Given the description of an element on the screen output the (x, y) to click on. 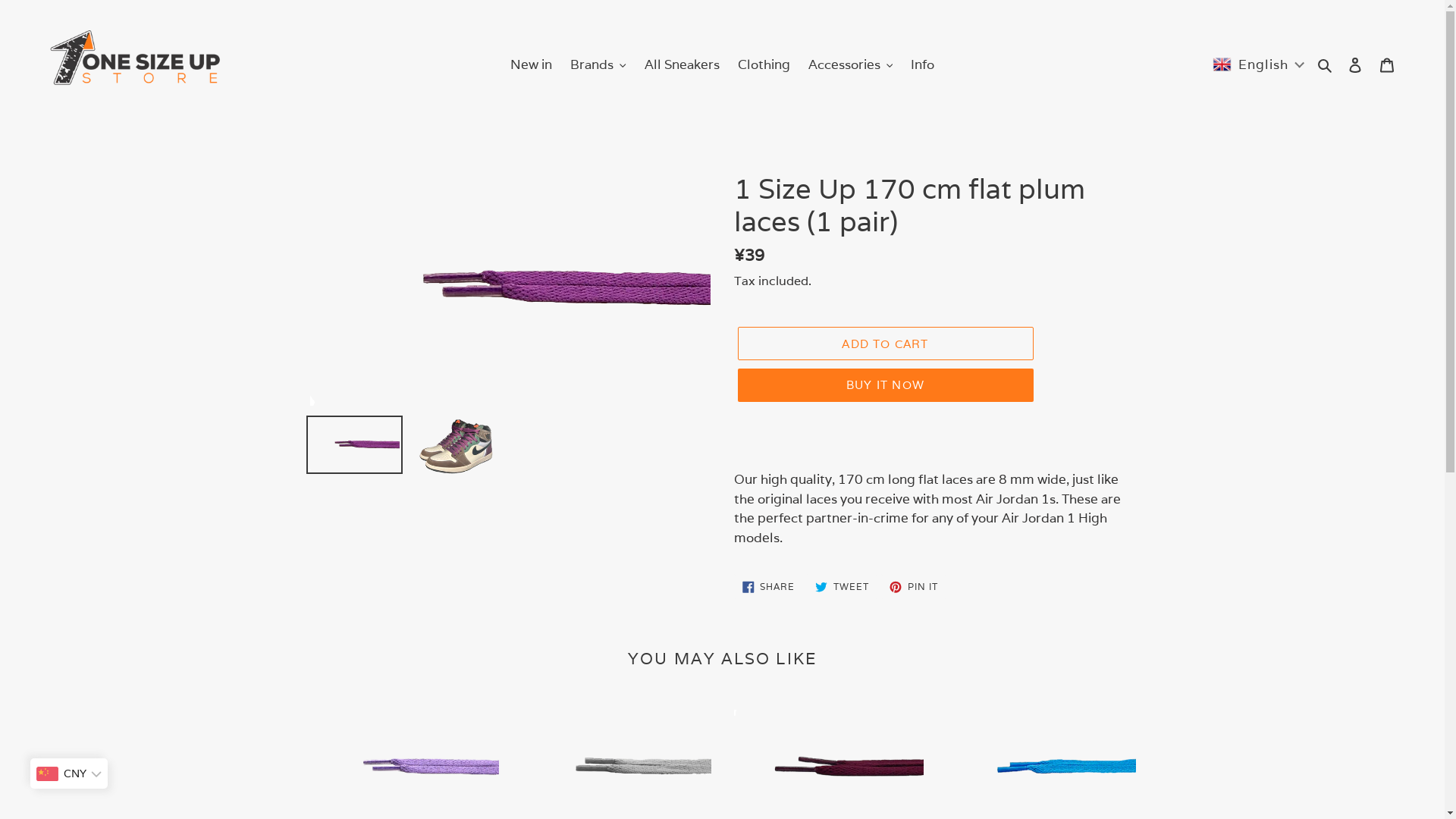
Log in Element type: text (1355, 64)
TWEET
TWEET ON TWITTER Element type: text (841, 586)
Brands Element type: text (597, 65)
All Sneakers Element type: text (682, 65)
BUY IT NOW Element type: text (884, 384)
Search Element type: text (1325, 64)
Accessories Element type: text (850, 65)
Clothing Element type: text (763, 65)
ADD TO CART Element type: text (884, 343)
PIN IT
PIN ON PINTEREST Element type: text (913, 586)
Info Element type: text (922, 65)
SHARE
SHARE ON FACEBOOK Element type: text (768, 586)
Cart Element type: text (1386, 64)
New in Element type: text (530, 65)
